Given the description of an element on the screen output the (x, y) to click on. 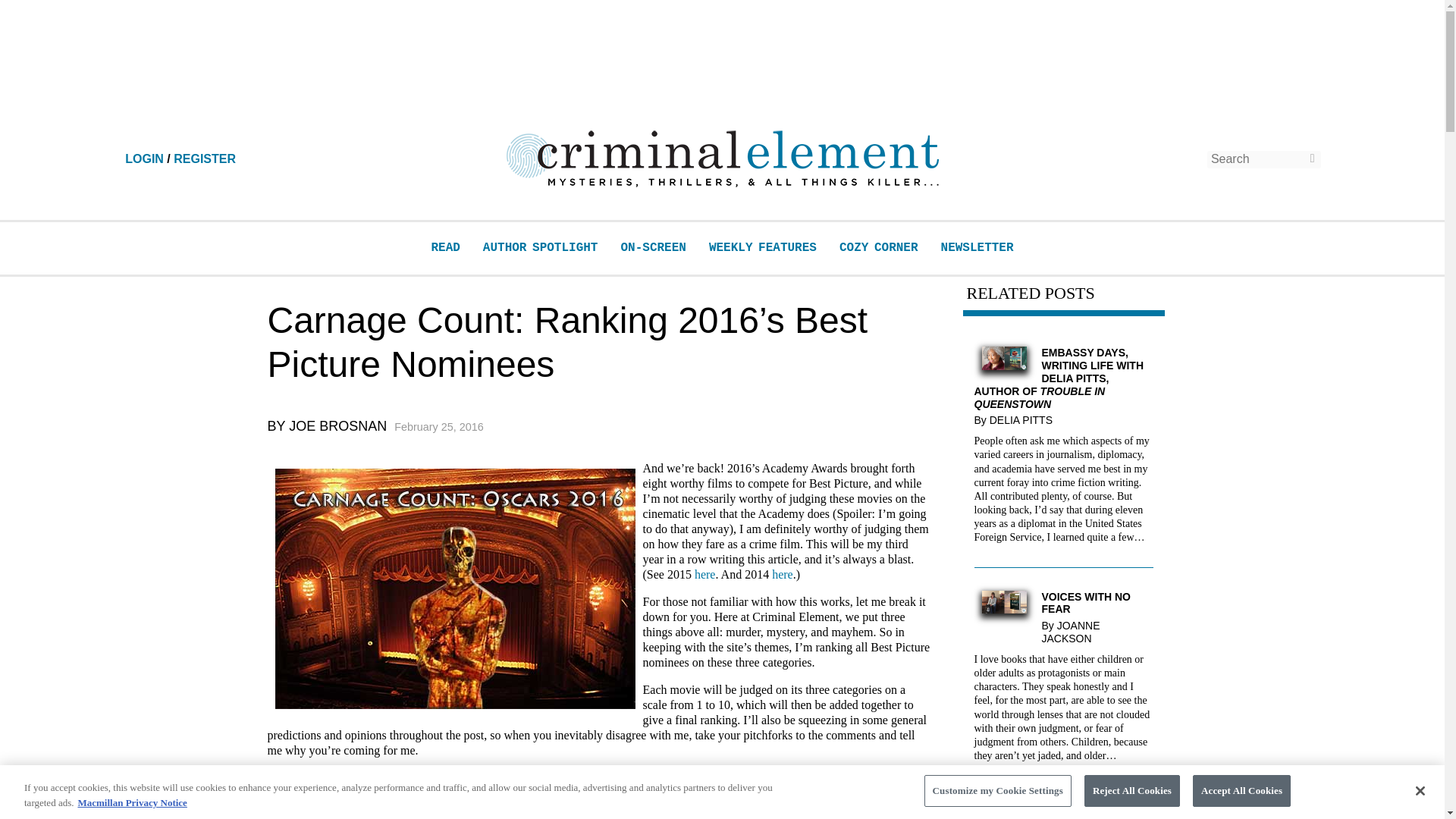
VOICES WITH NO FEAR (1063, 603)
NEWSLETTER (976, 247)
LOGIN (144, 158)
DELIA PITTS (1024, 419)
COZY CORNER (879, 247)
Delia Pitts (1024, 419)
here (782, 574)
Conspiracies All the Way Down (1063, 813)
WEEKLY FEATURES (762, 247)
Joanne Jackson (1071, 631)
Voices with No Fear (1003, 608)
3rd party ad content (721, 64)
ON-SCREEN (652, 247)
